Given the description of an element on the screen output the (x, y) to click on. 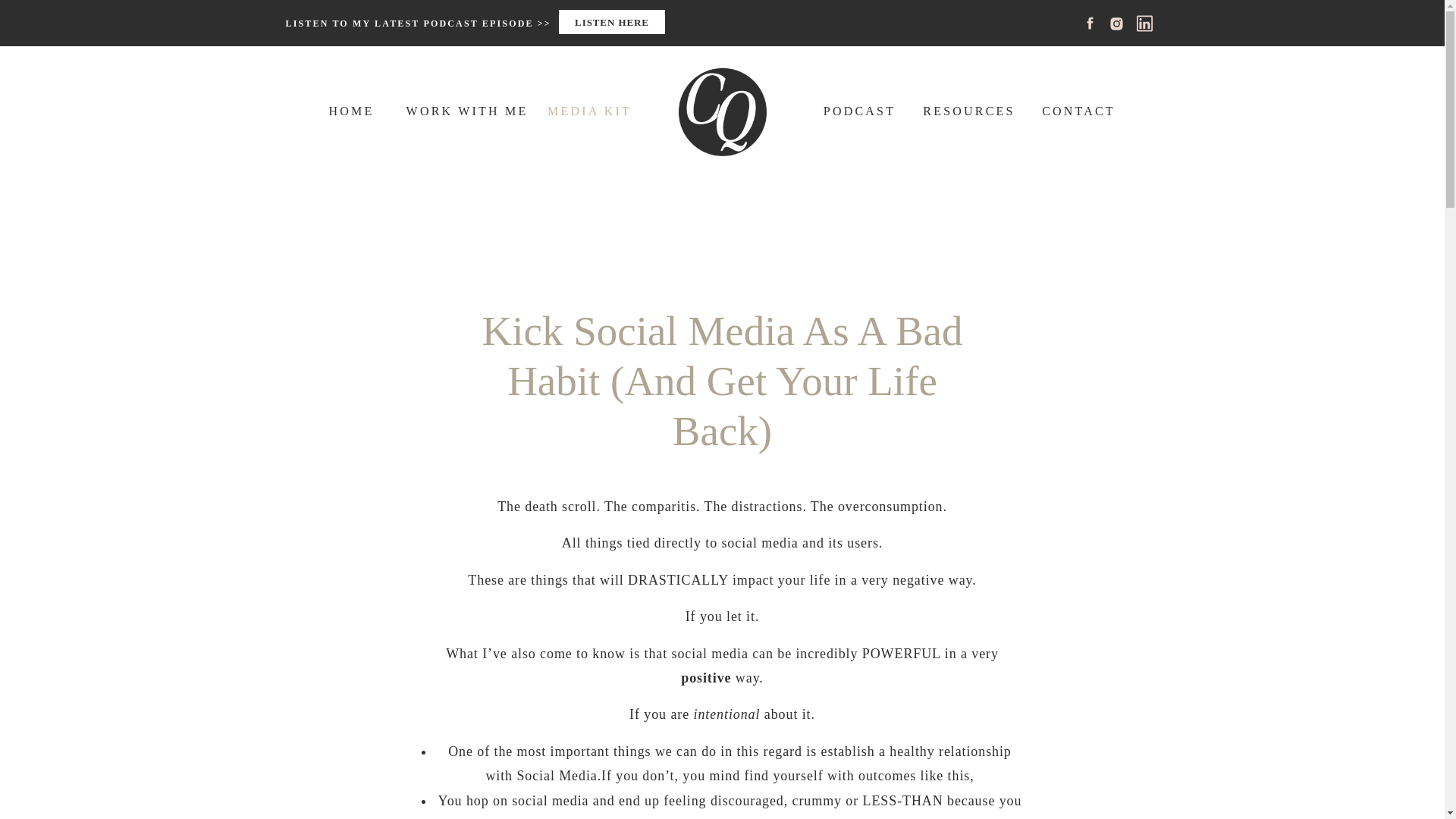
HOME (351, 109)
WORK WITH ME (467, 109)
CONTACT (1079, 109)
RESOURCES (968, 109)
PODCAST (858, 109)
MEDIA KIT (589, 109)
LISTEN HERE (611, 24)
